Given the description of an element on the screen output the (x, y) to click on. 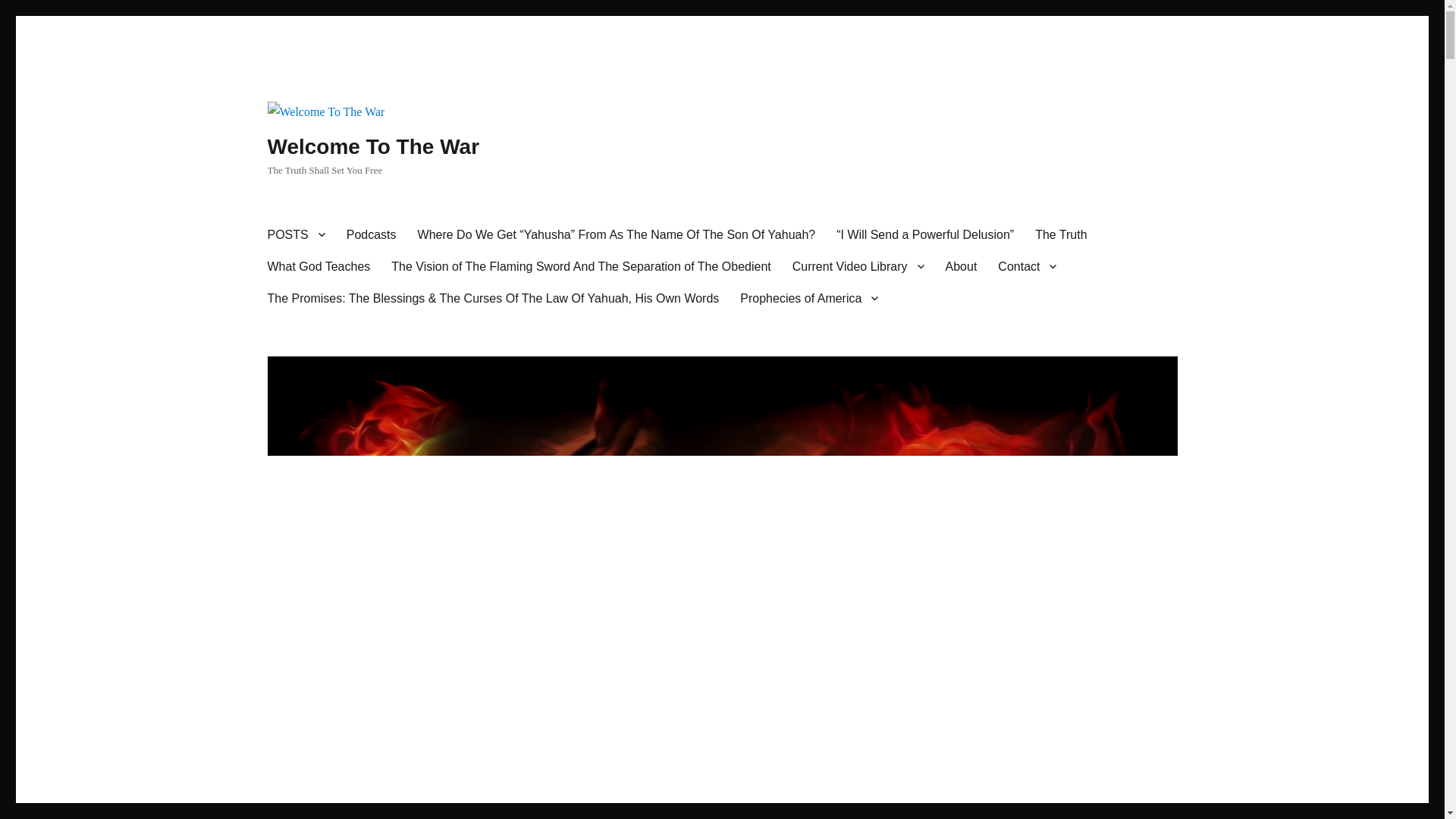
Welcome To The War (372, 146)
Prophecies of America (808, 297)
What God Teaches (318, 265)
Contact (1027, 265)
POSTS (295, 234)
The Truth (1061, 234)
About (961, 265)
Current Video Library (857, 265)
Podcasts (371, 234)
